Given the description of an element on the screen output the (x, y) to click on. 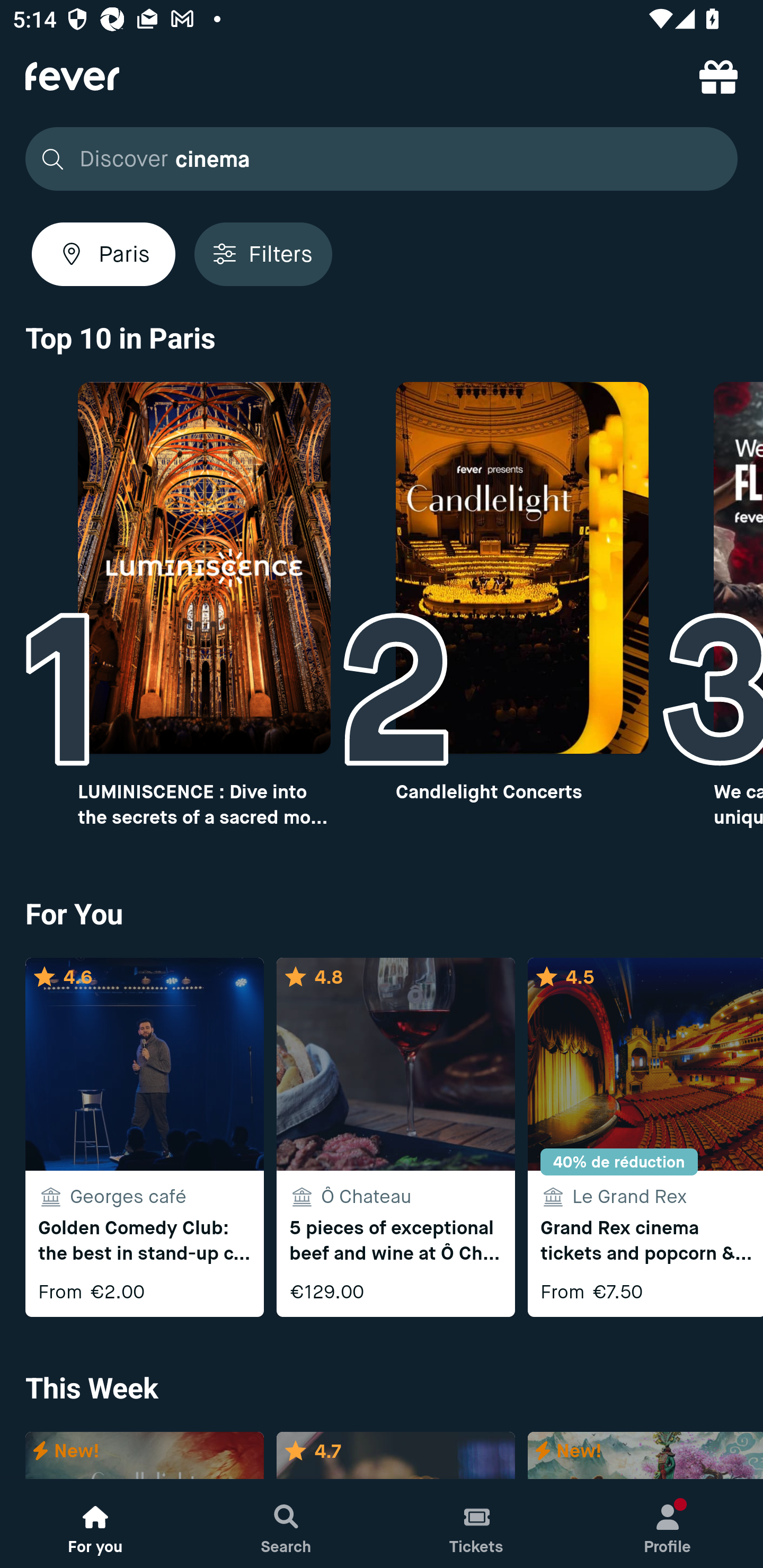
referral (718, 75)
Discover cinema (381, 158)
Discover cinema (376, 158)
Paris (103, 253)
Filters (262, 253)
Top10 image (203, 568)
Top10 image (521, 568)
Search (285, 1523)
Tickets (476, 1523)
Profile, New notification Profile (667, 1523)
